Given the description of an element on the screen output the (x, y) to click on. 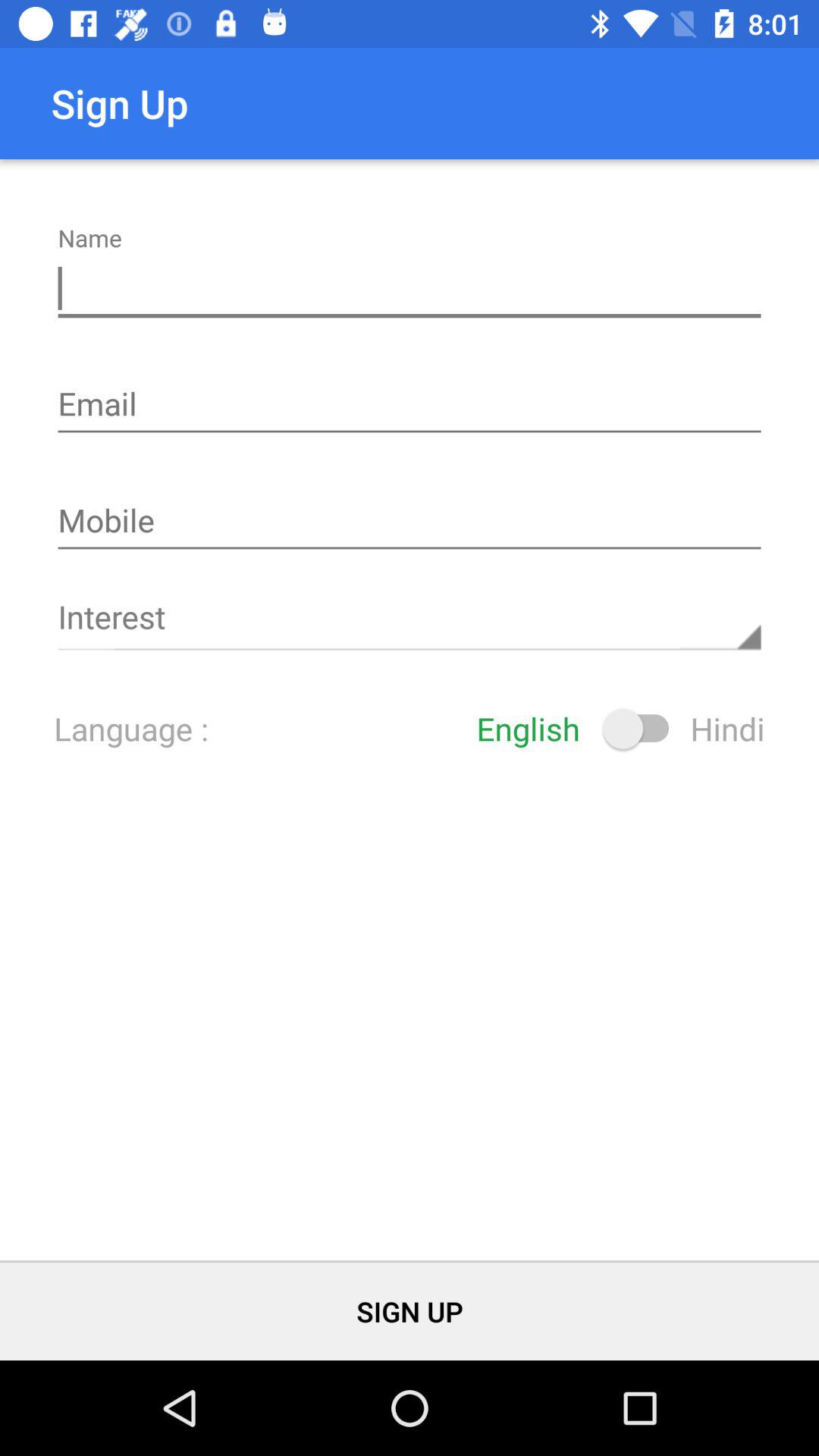
add mobile number (409, 522)
